Given the description of an element on the screen output the (x, y) to click on. 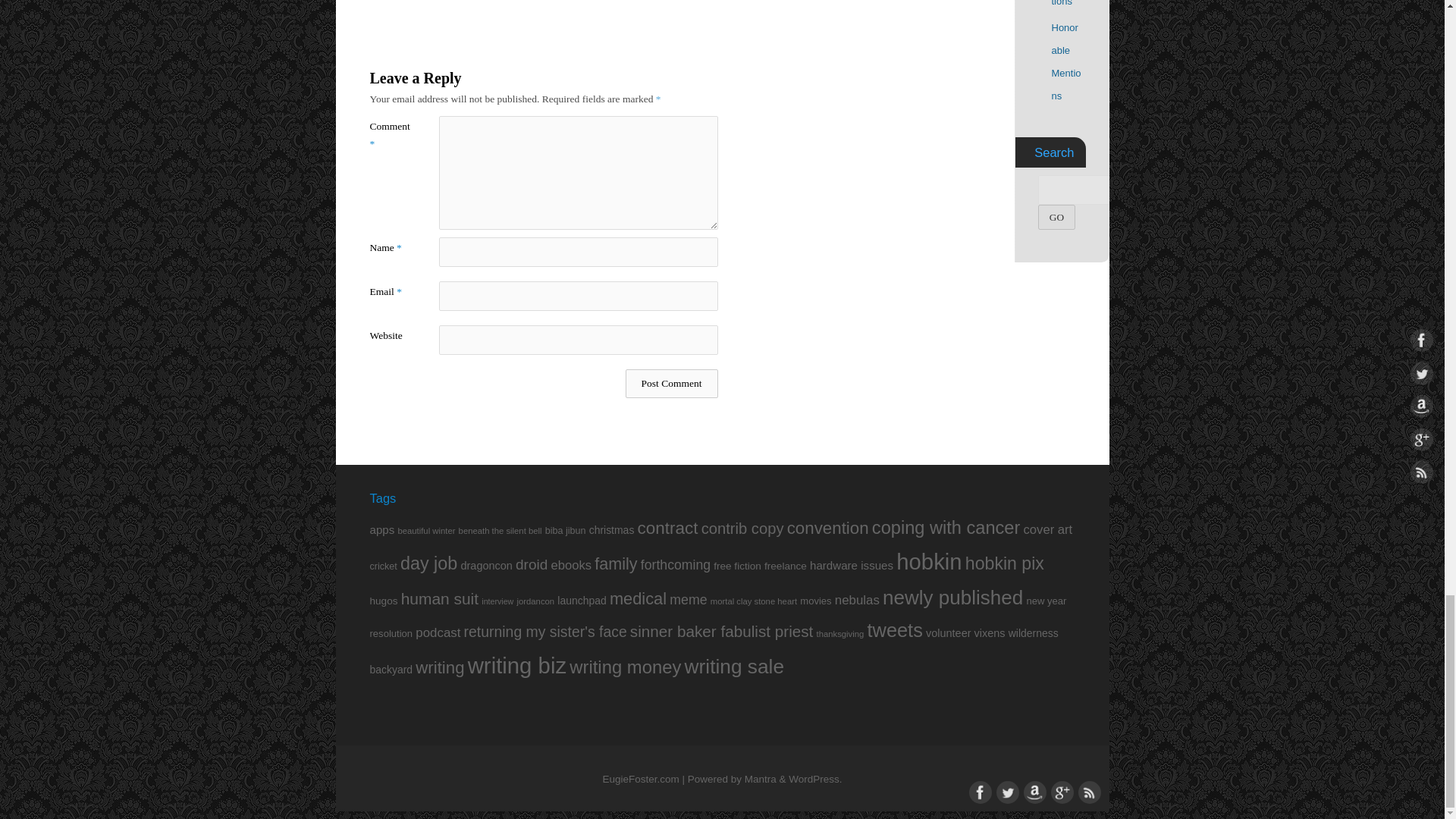
GO (1055, 217)
Post Comment (671, 383)
